Given the description of an element on the screen output the (x, y) to click on. 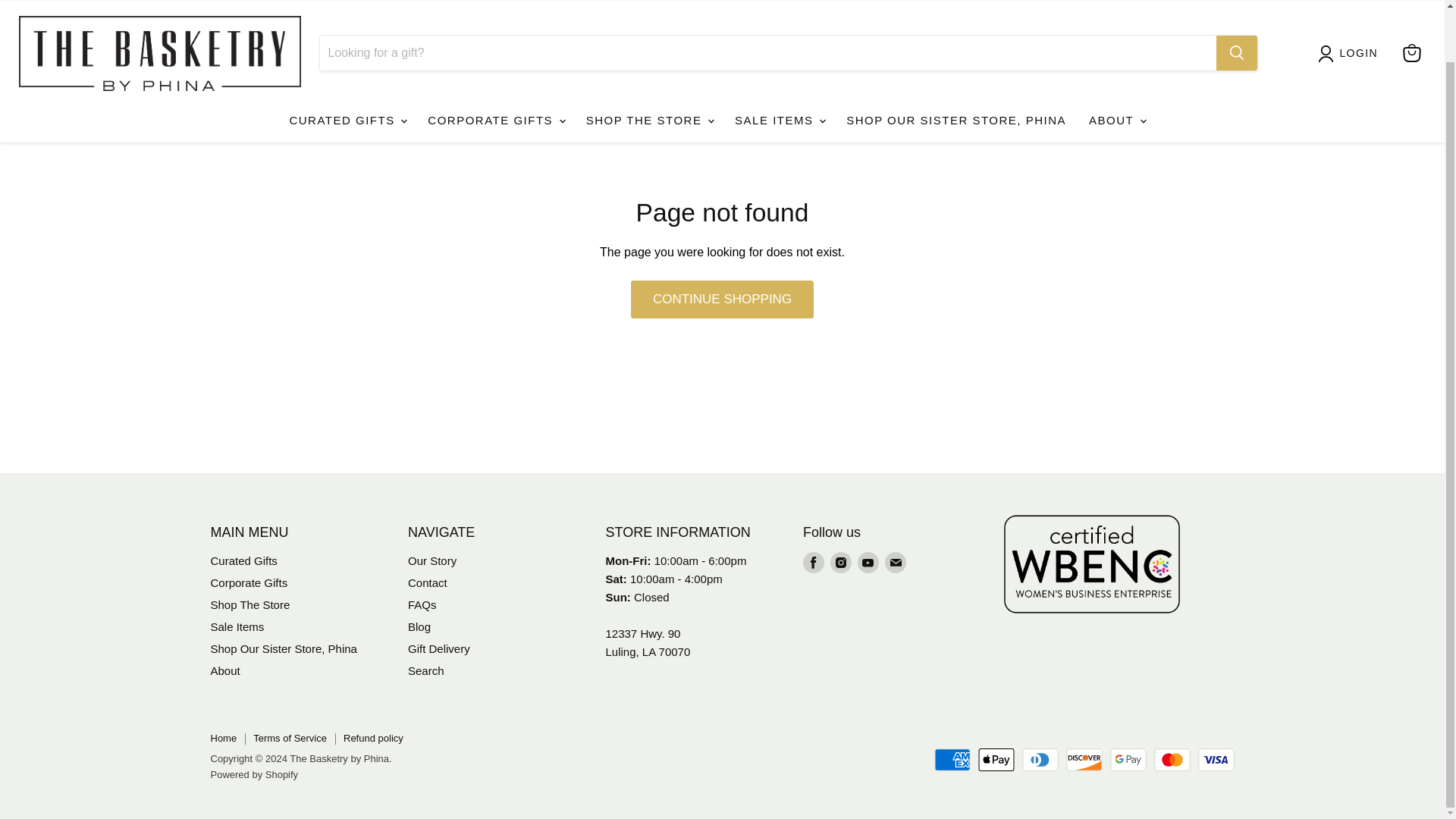
SHOP THE STORE (649, 101)
Google Pay (1128, 759)
CORPORATE GIFTS (494, 101)
Diners Club (1040, 759)
Mastercard (1172, 759)
American Express (952, 759)
Visa (1216, 759)
View cart (1411, 32)
Apple Pay (996, 759)
Discover (1083, 759)
Instagram (840, 562)
CURATED GIFTS (347, 101)
Email (895, 562)
LOGIN (1358, 33)
Youtube (868, 562)
